Given the description of an element on the screen output the (x, y) to click on. 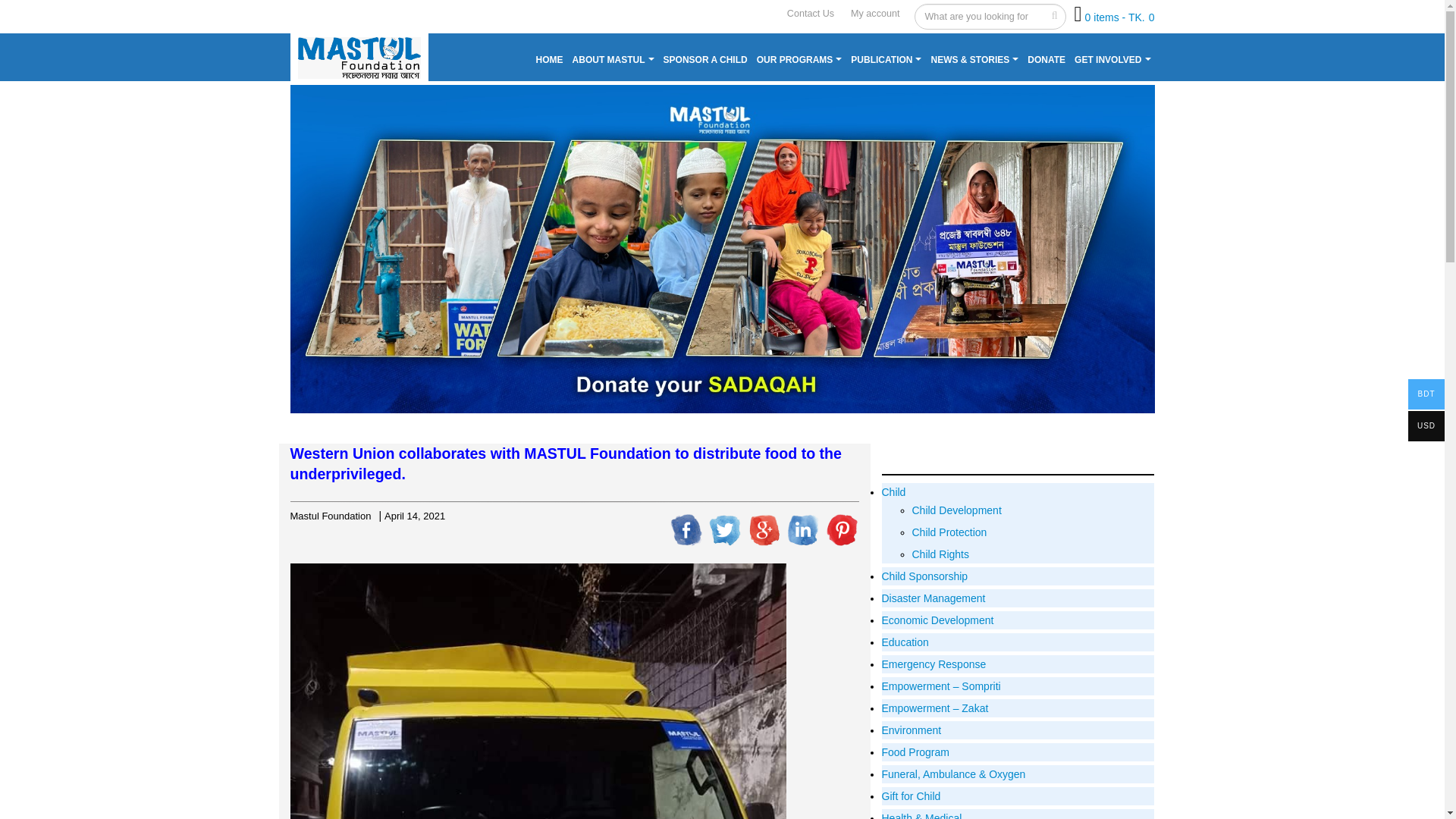
View your shopping cart (1119, 17)
Our programs (798, 60)
Home (549, 60)
ABOUT MASTUL (613, 60)
Contact Us (809, 13)
OUR PROGRAMS (798, 60)
About MASTUL (613, 60)
PUBLICATION (885, 60)
SPONSOR A CHILD (705, 60)
HOME (549, 60)
My account (875, 13)
SPONSOR A CHILD (705, 60)
0 items - TK.0 (1119, 17)
